Given the description of an element on the screen output the (x, y) to click on. 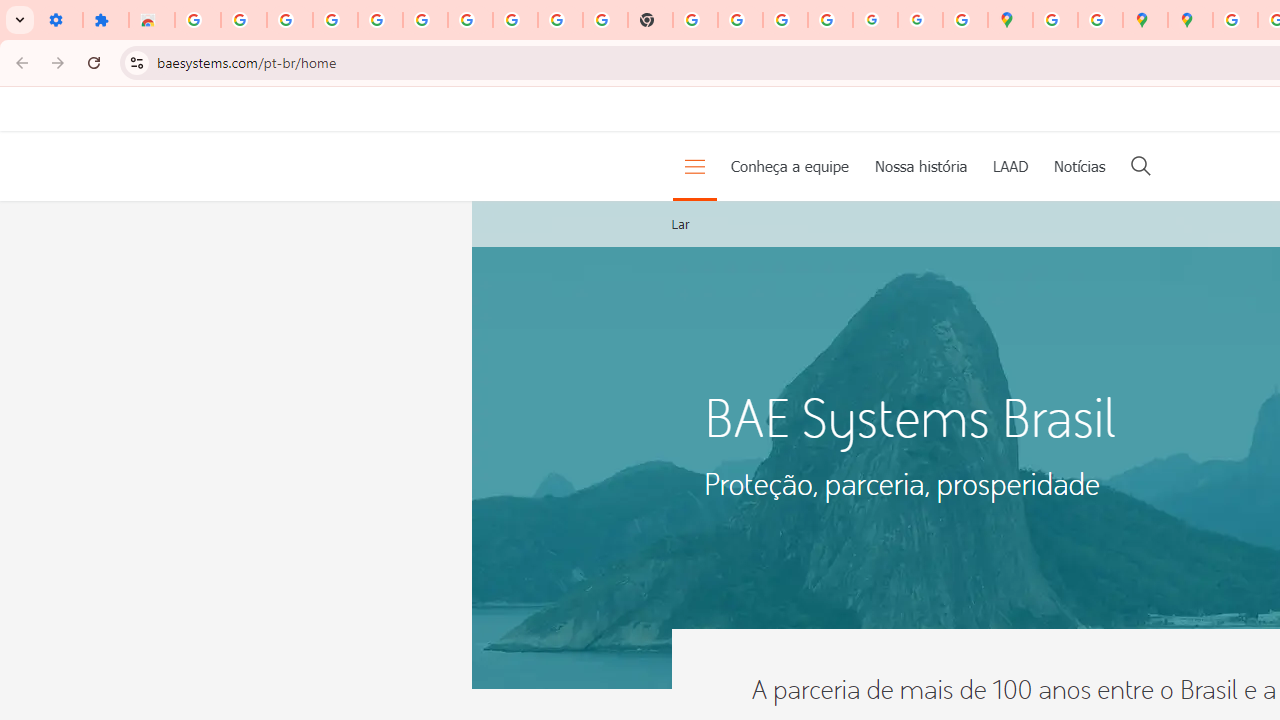
Safety in Our Products - Google Safety Center (1099, 20)
LAAD (1010, 165)
Settings - On startup (60, 20)
